Given the description of an element on the screen output the (x, y) to click on. 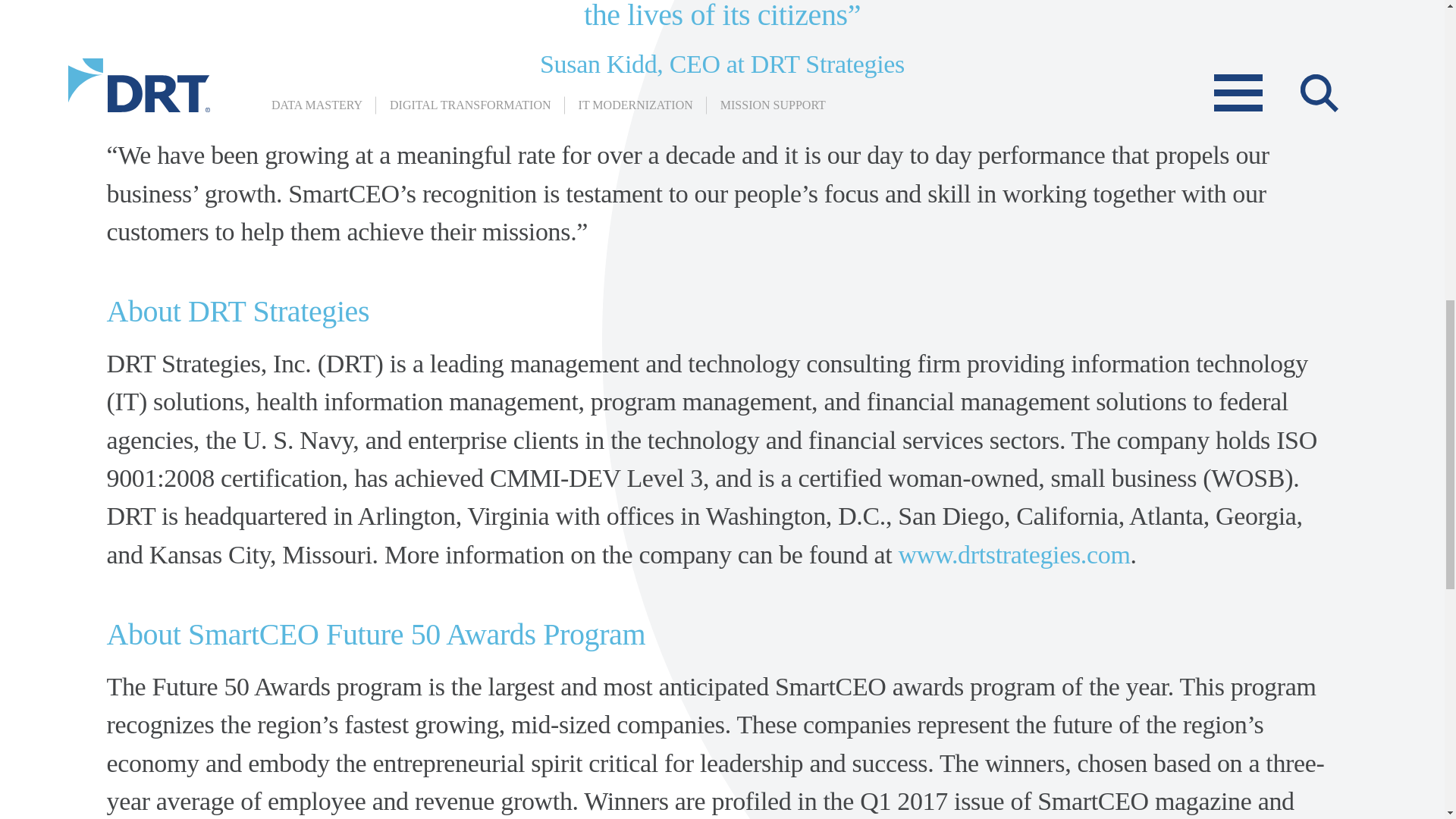
www.drtstrategies.com (1014, 554)
